Given the description of an element on the screen output the (x, y) to click on. 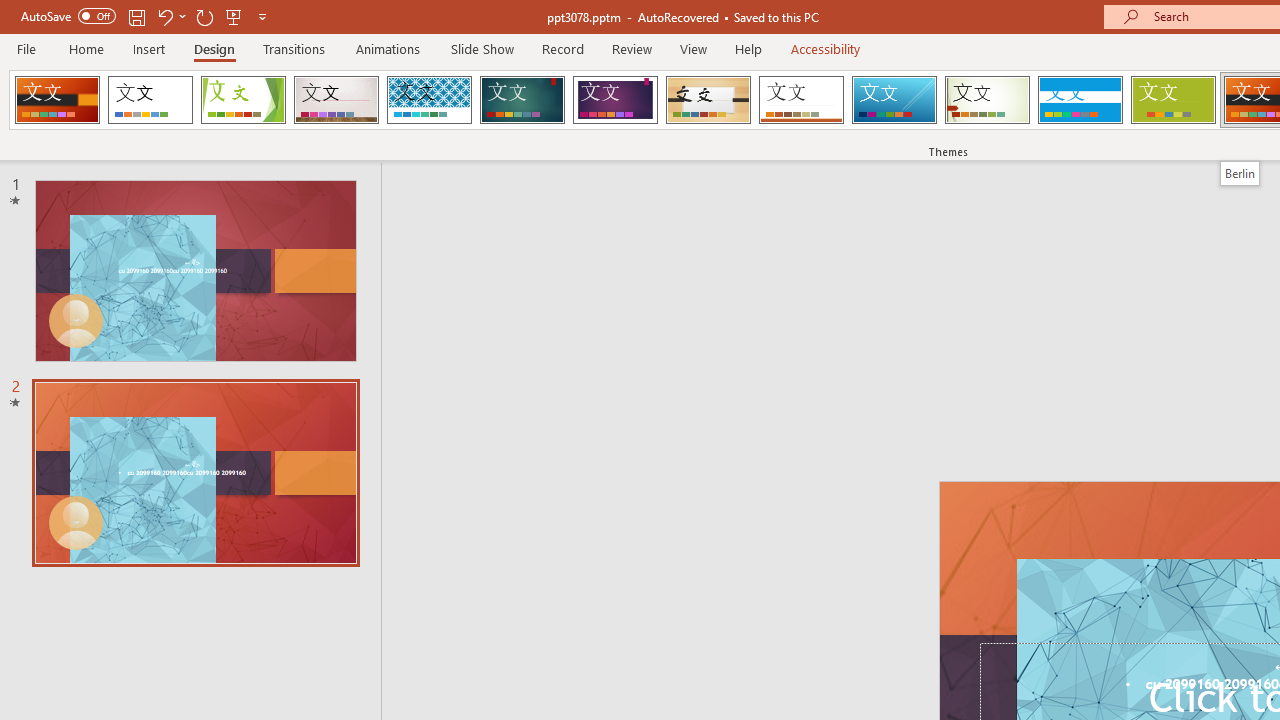
Integral (429, 100)
Ion (522, 100)
Basis (1172, 100)
